Given the description of an element on the screen output the (x, y) to click on. 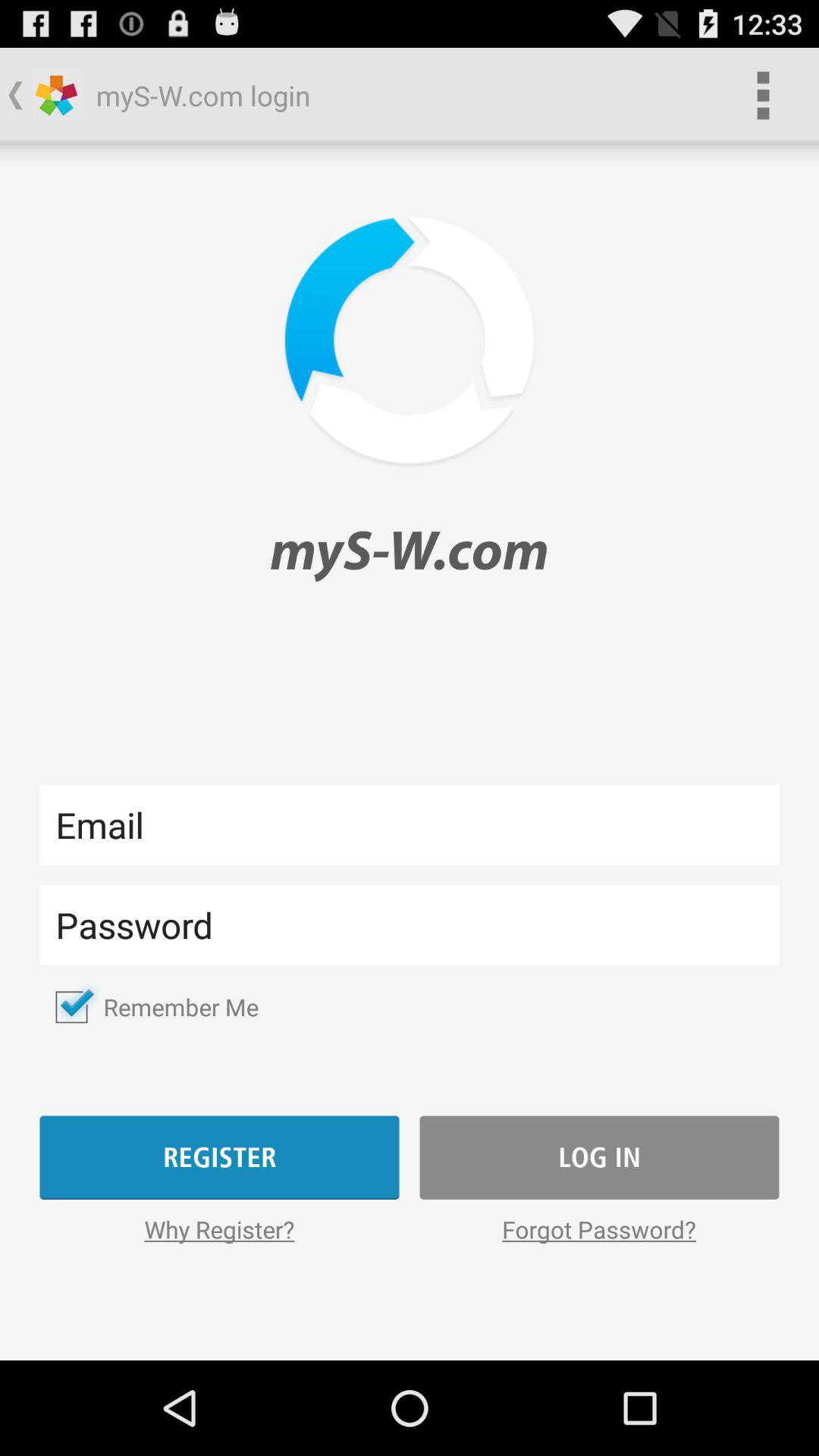
enter the password here (409, 924)
